Given the description of an element on the screen output the (x, y) to click on. 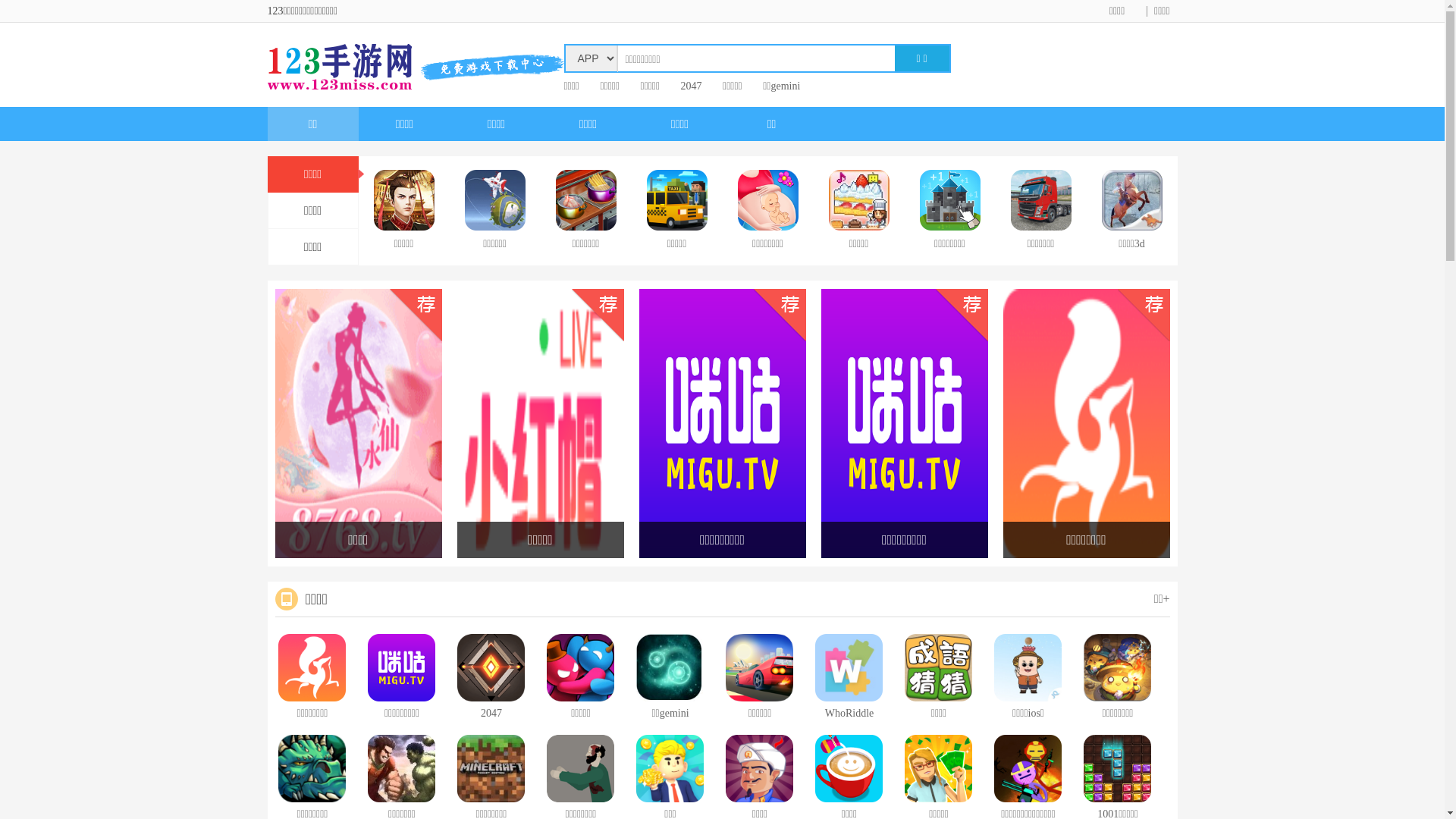
2047 Element type: text (691, 85)
2047 Element type: text (490, 679)
WhoRiddle Element type: text (847, 679)
